Given the description of an element on the screen output the (x, y) to click on. 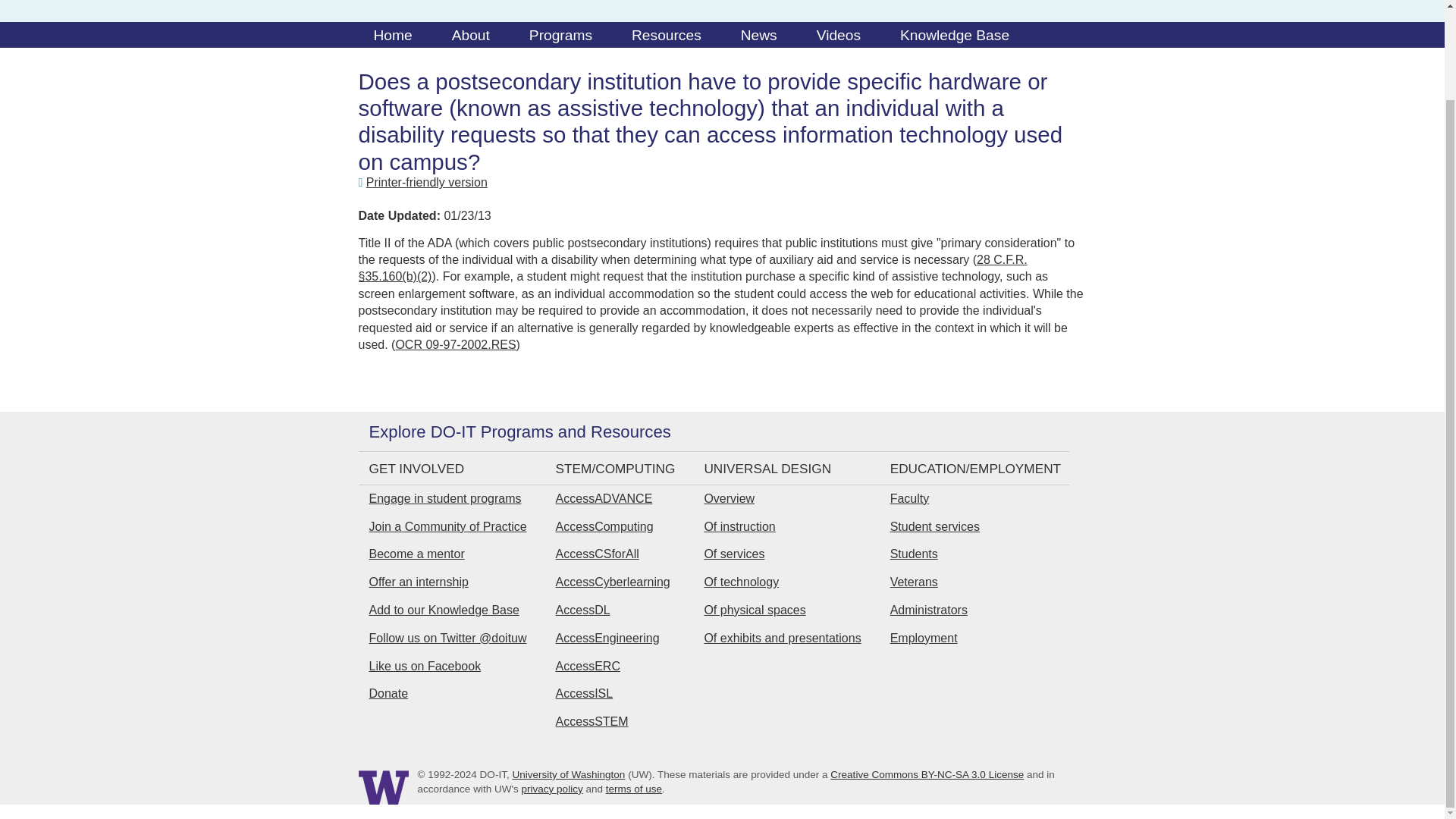
Add to our Knowledge Base (443, 609)
Donate (387, 693)
AccessADVANCE (604, 498)
Engage in student programs (444, 498)
Programs (560, 38)
Join a Community of Practice (446, 526)
Printer-friendly version (426, 182)
Like us on Facebook (424, 666)
AccessDL (583, 609)
DO-IT (397, 4)
